Given the description of an element on the screen output the (x, y) to click on. 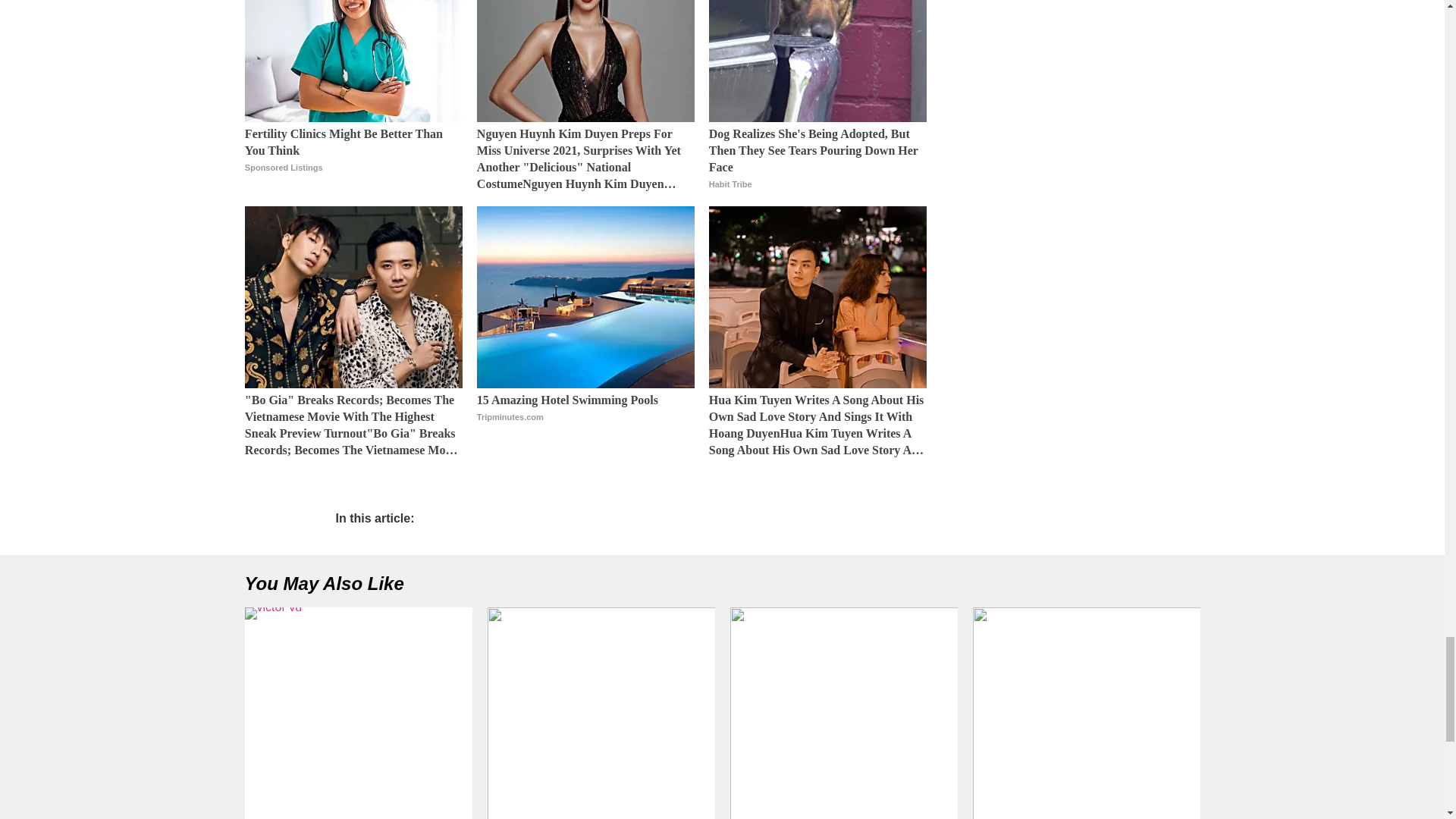
Fertility Clinics Might Be Better Than You Think (353, 61)
Fertility Clinics Might Be Better Than You Think (353, 159)
